Given the description of an element on the screen output the (x, y) to click on. 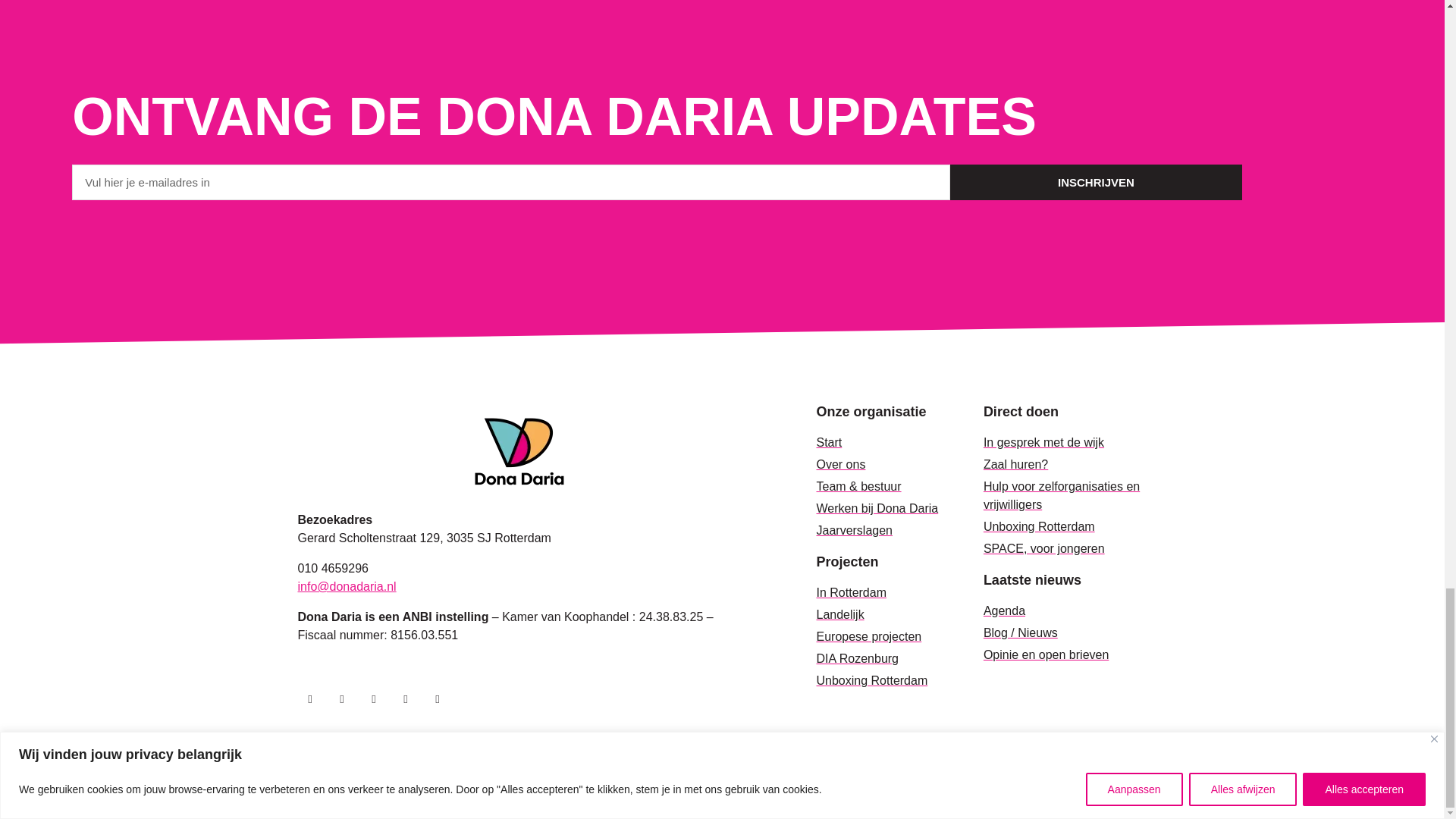
Logo Dona Daria klein (518, 450)
